Given the description of an element on the screen output the (x, y) to click on. 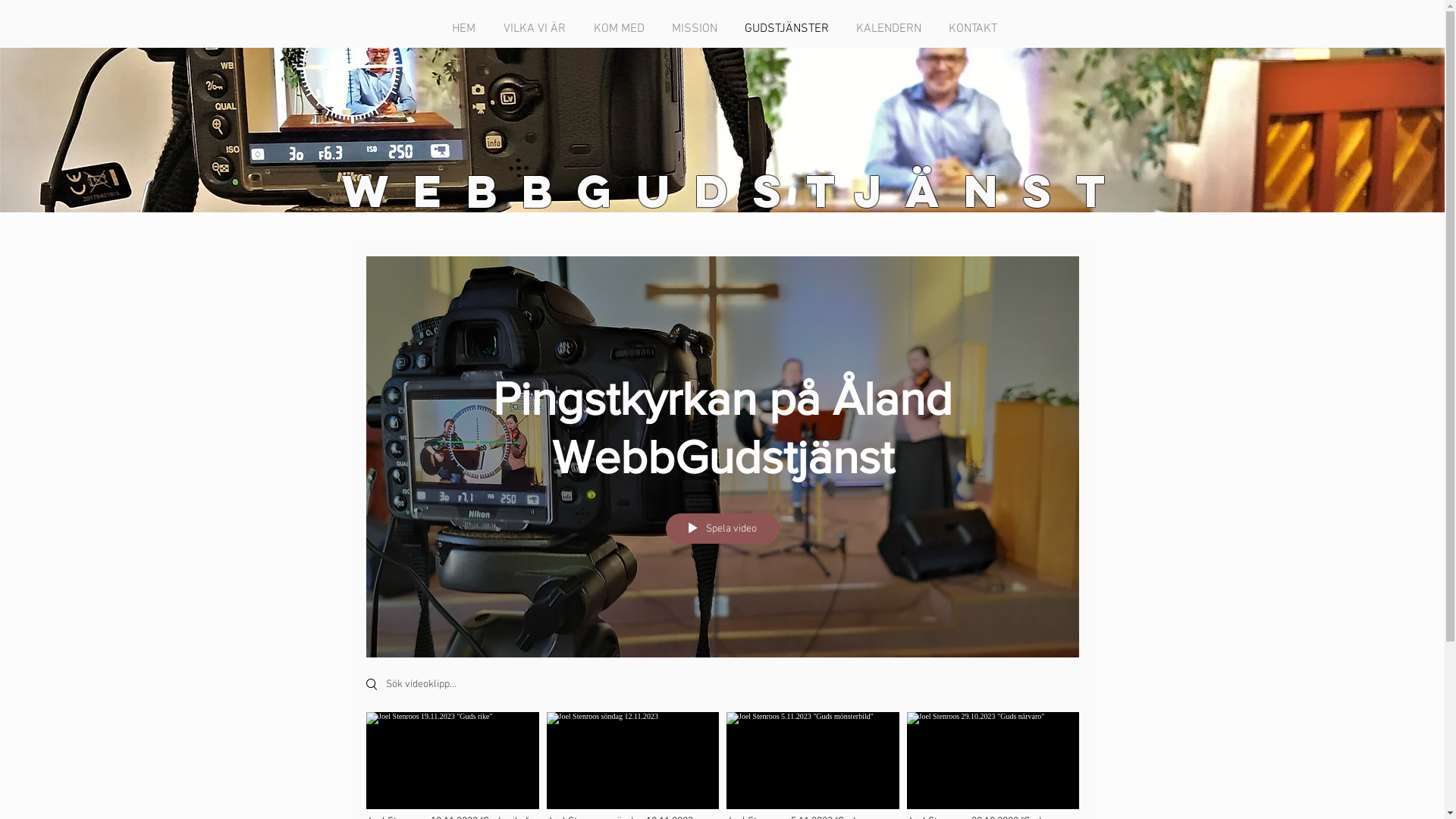
KOM MED Element type: text (621, 28)
KALENDERN Element type: text (890, 28)
MISSION Element type: text (695, 28)
KONTAKT Element type: text (975, 28)
Spela video Element type: text (721, 528)
HEM Element type: text (465, 28)
